Given the description of an element on the screen output the (x, y) to click on. 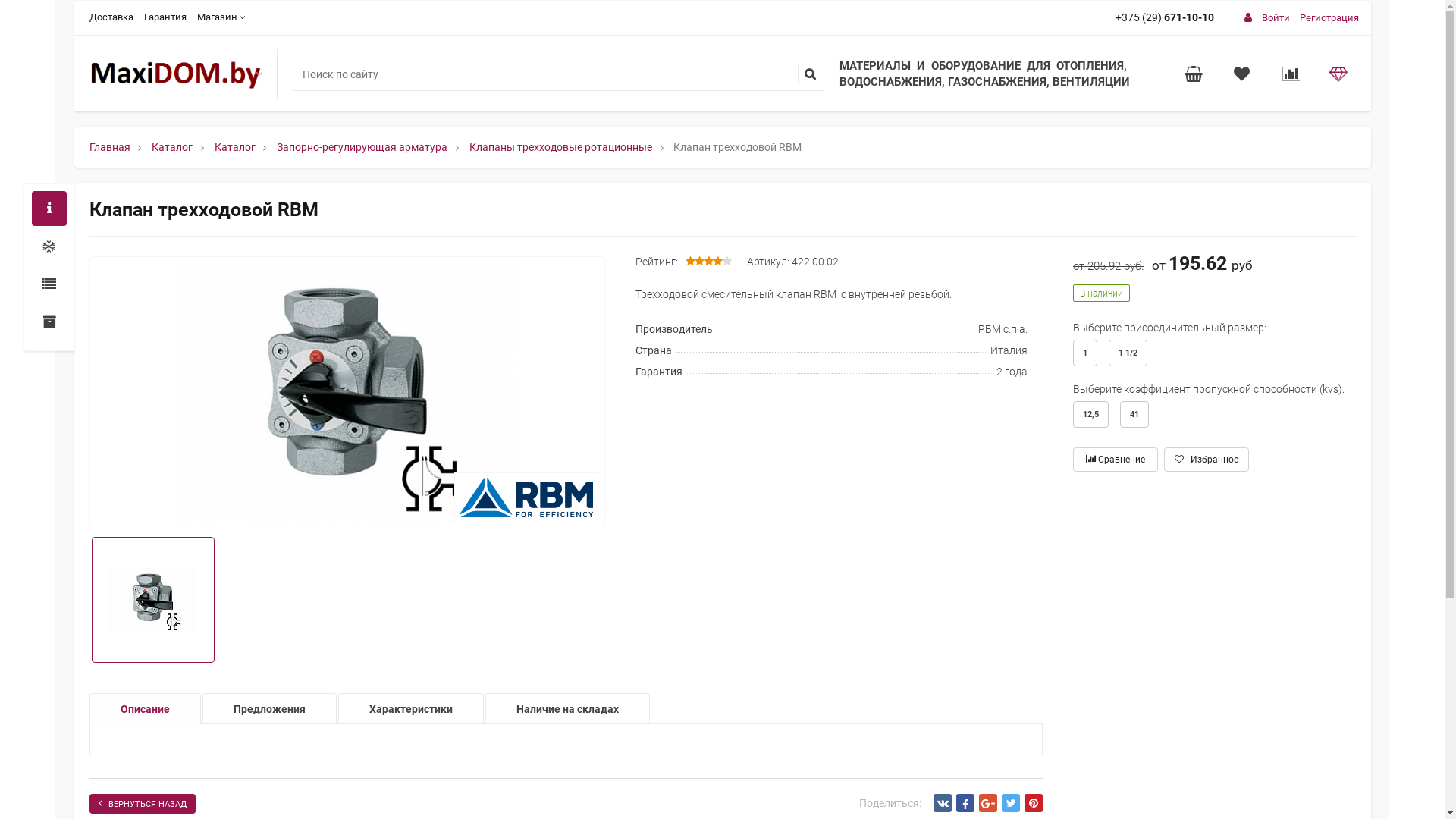
1004 Element type: text (54, 15)
Google+ Element type: hover (988, 802)
BXReady Element type: hover (176, 73)
Facebook Element type: hover (965, 802)
Twitter Element type: hover (1010, 802)
Pinterest Element type: hover (1033, 802)
+375 (29) 671-10-10 Element type: text (1167, 17)
